Given the description of an element on the screen output the (x, y) to click on. 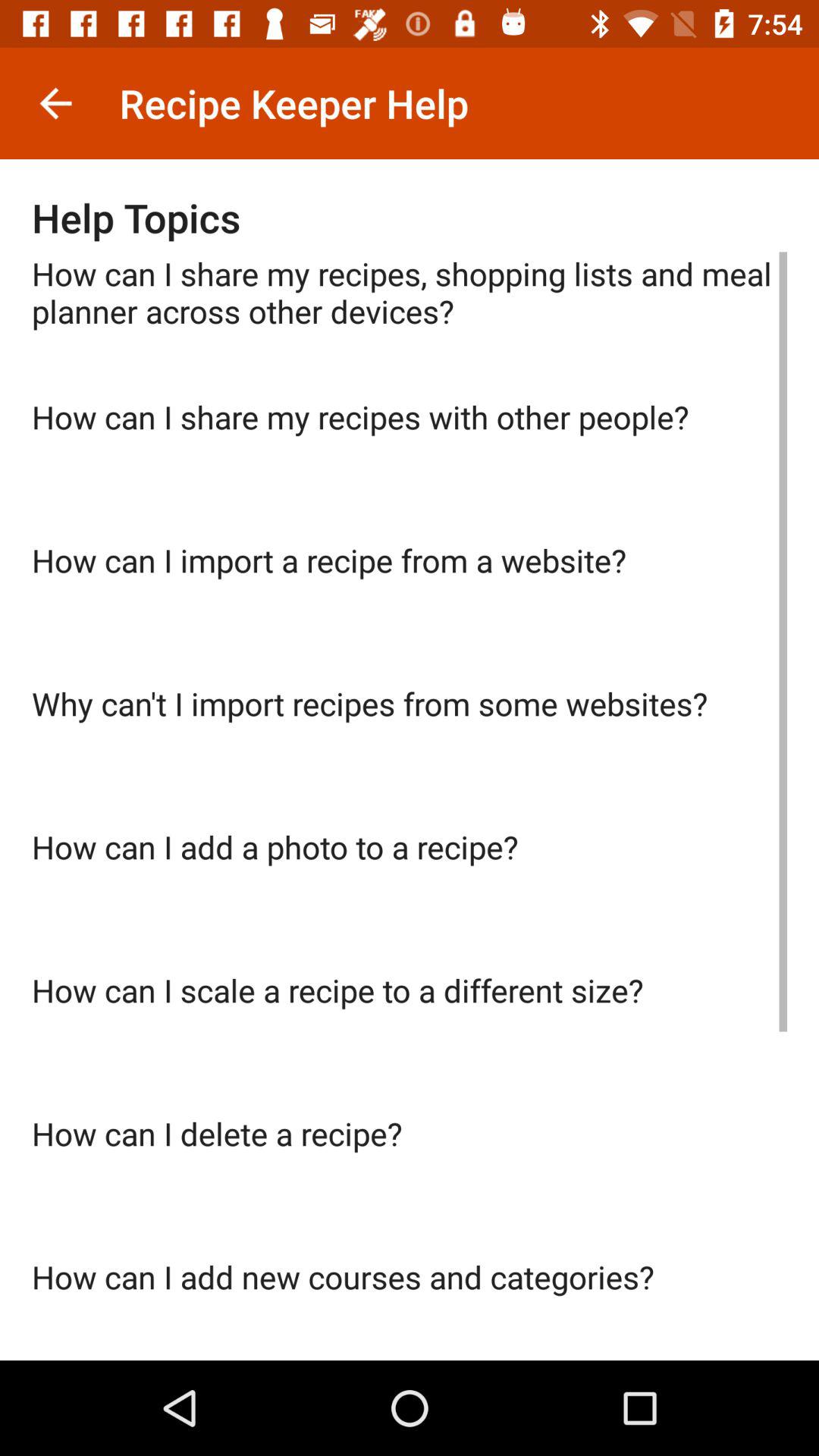
click the icon at the top left corner (55, 103)
